Given the description of an element on the screen output the (x, y) to click on. 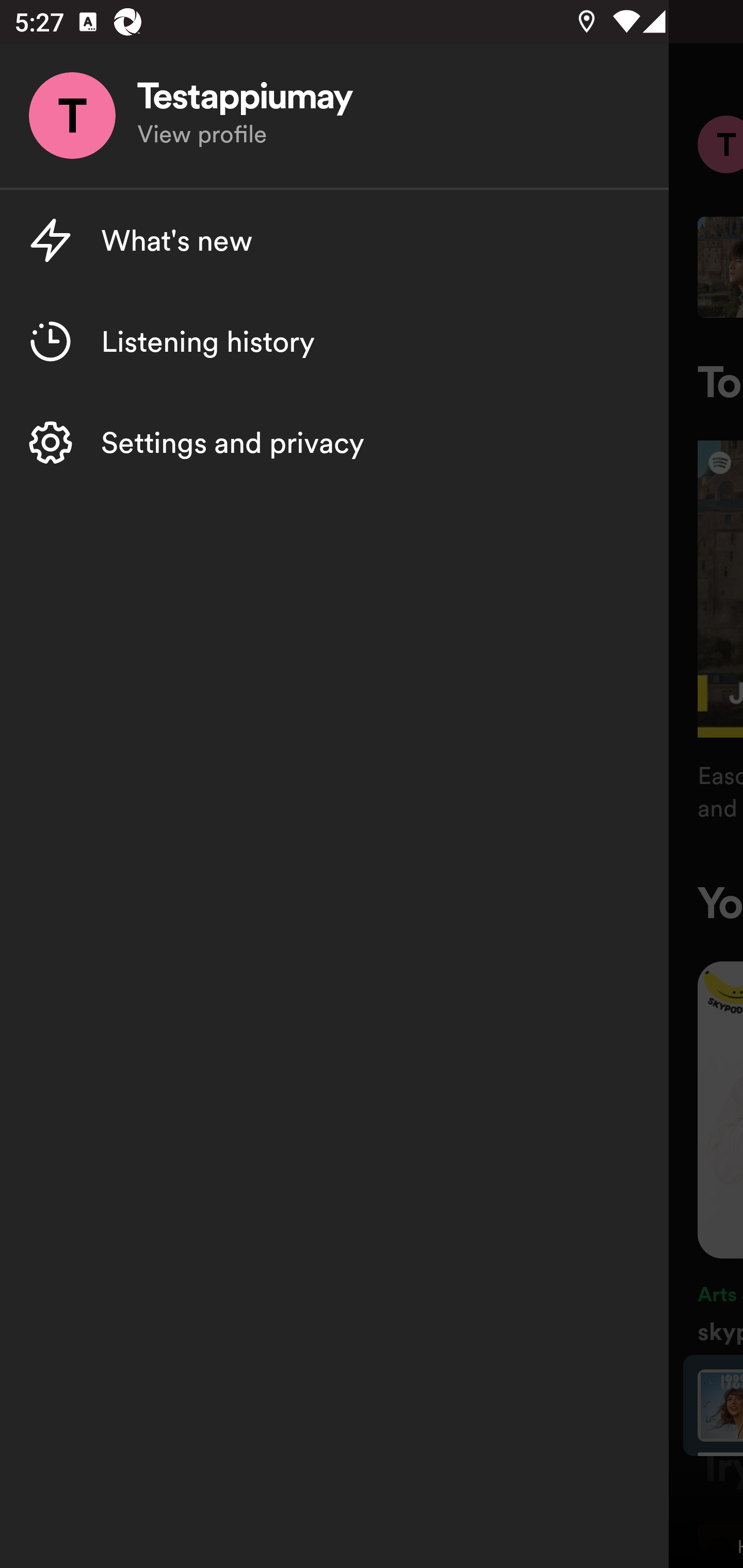
Profile Testappiumay View profile (334, 115)
What's new (334, 240)
Listening history (334, 341)
Settings and privacy (334, 442)
